Given the description of an element on the screen output the (x, y) to click on. 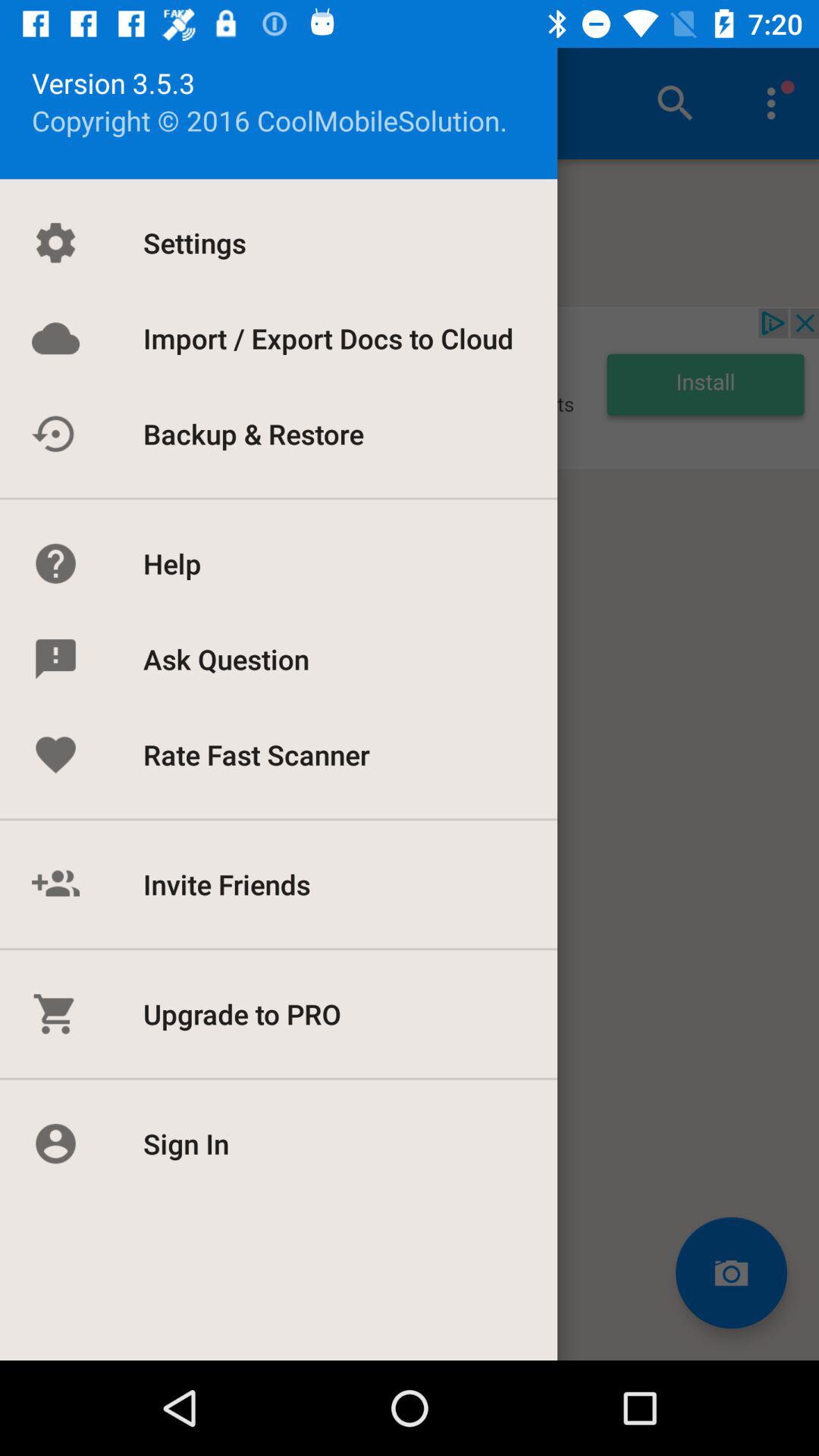
click on the icon at the top right of the page (675, 103)
click on top right corner (771, 103)
